Given the description of an element on the screen output the (x, y) to click on. 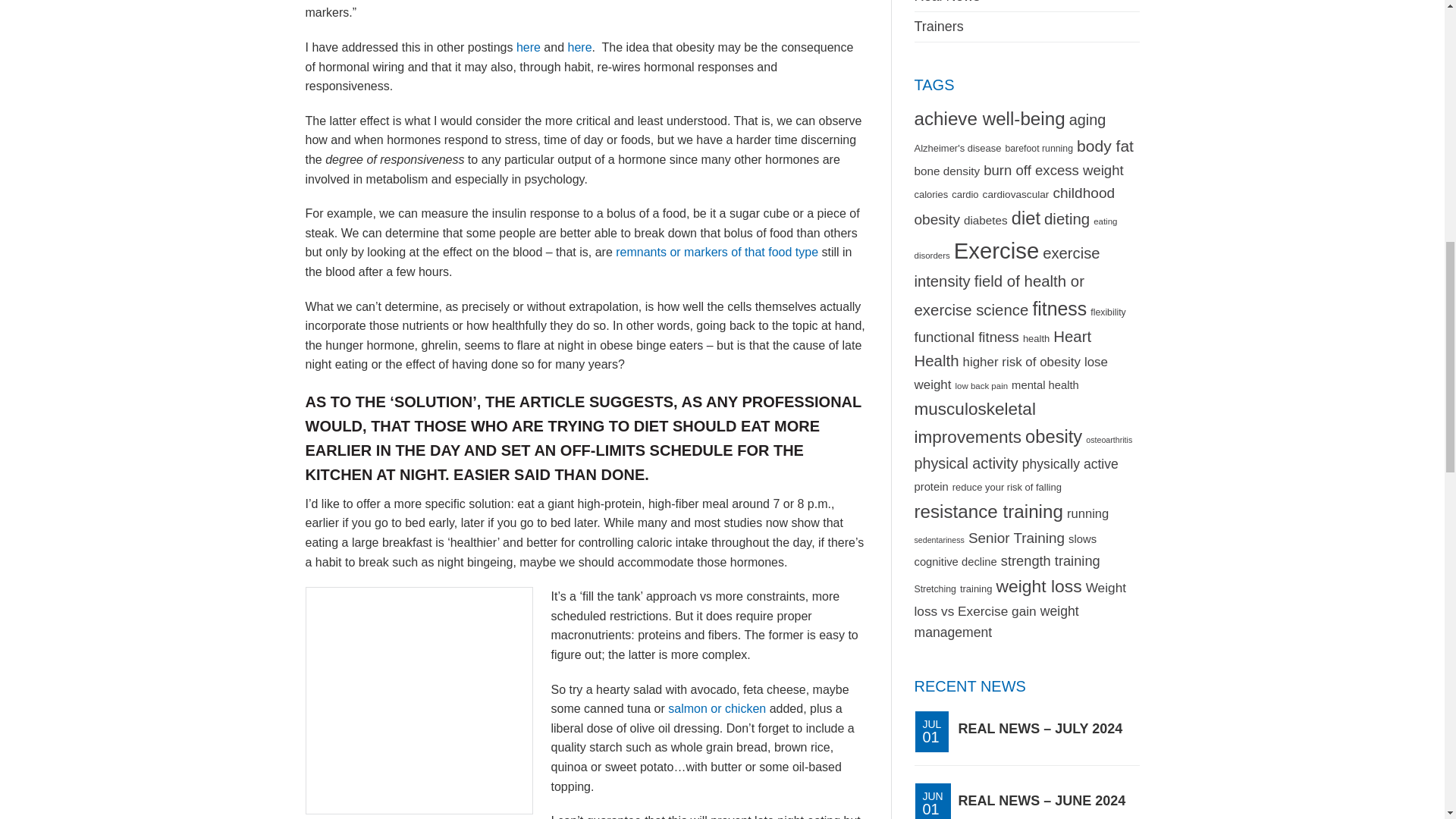
here (528, 47)
salmon or chicken (716, 707)
here (579, 47)
remnants or markers of that food type (716, 251)
